Given the description of an element on the screen output the (x, y) to click on. 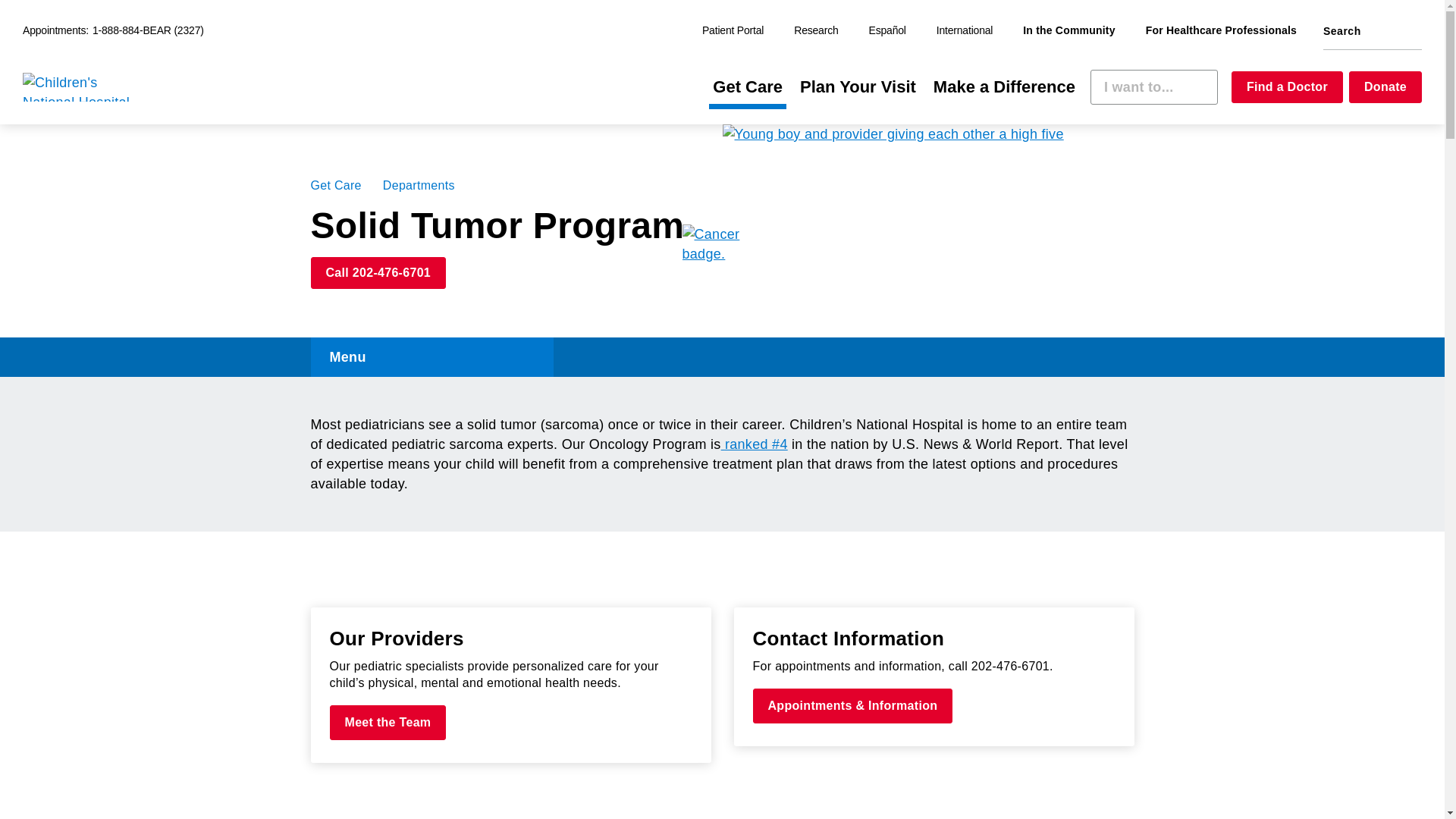
Research (815, 30)
In the Community (1068, 30)
For Healthcare Professionals (1220, 30)
Patient Portal (732, 30)
International (964, 30)
